Given the description of an element on the screen output the (x, y) to click on. 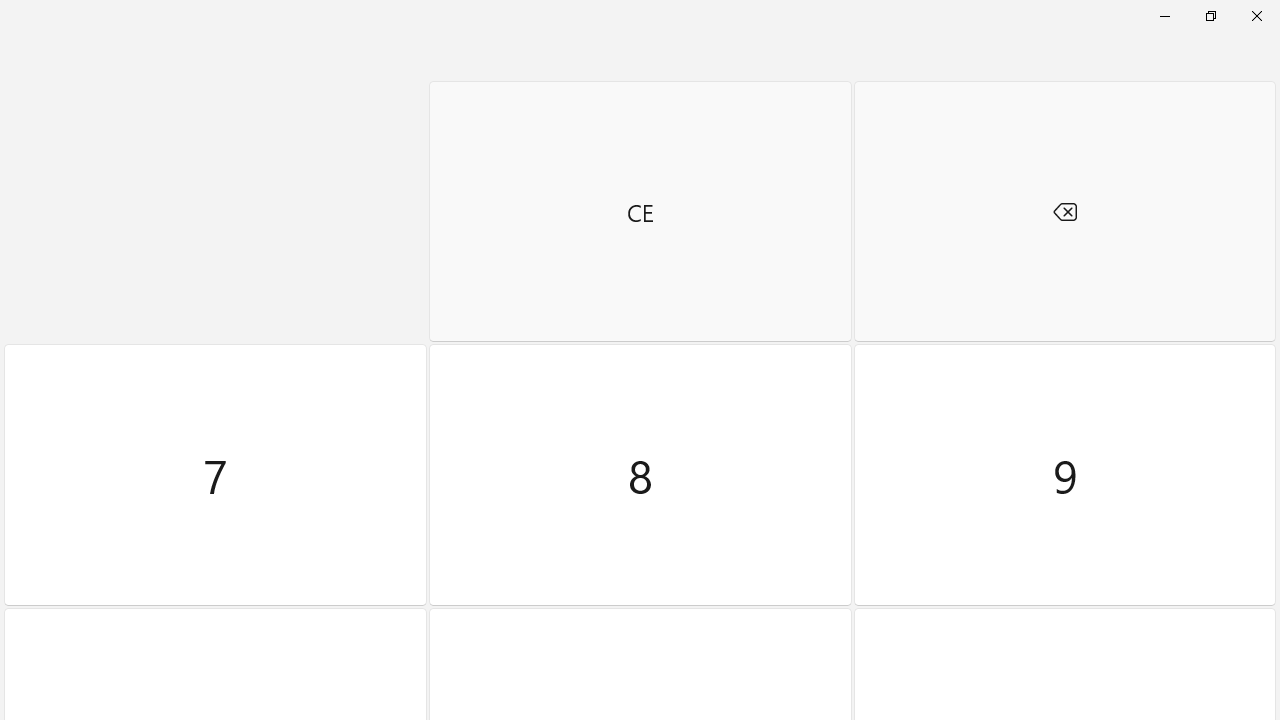
Minimize Calculator (1164, 15)
Close Calculator (1256, 15)
Backspace (1064, 211)
Nine (1064, 475)
Eight (640, 475)
Seven (215, 475)
Restore Calculator (1210, 15)
Clear entry (640, 211)
